Given the description of an element on the screen output the (x, y) to click on. 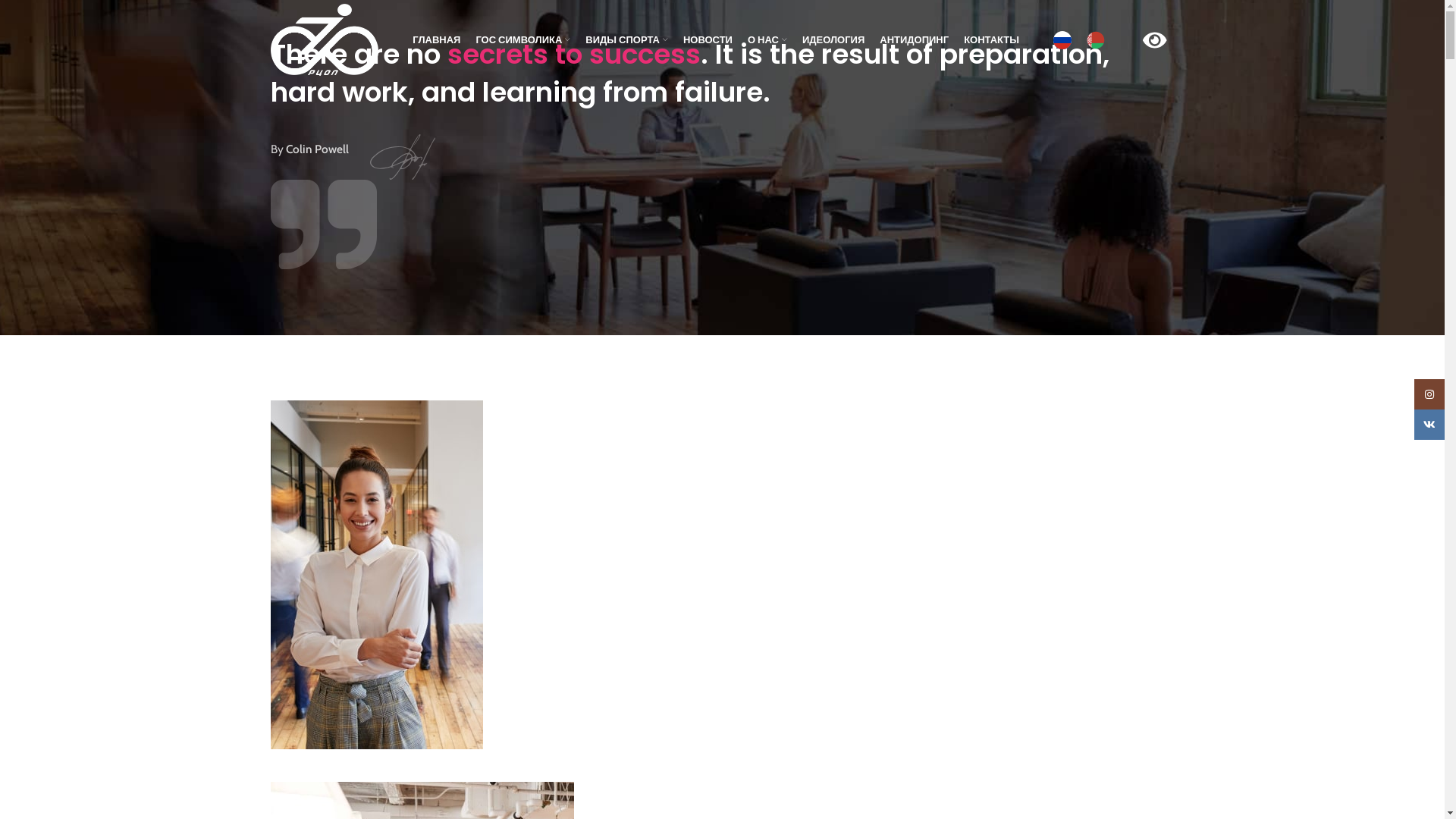
w-autog Element type: hover (402, 156)
w-fonts-quotes Element type: hover (322, 224)
w-our-team-img-1-opt-1 Element type: hover (375, 574)
